Given the description of an element on the screen output the (x, y) to click on. 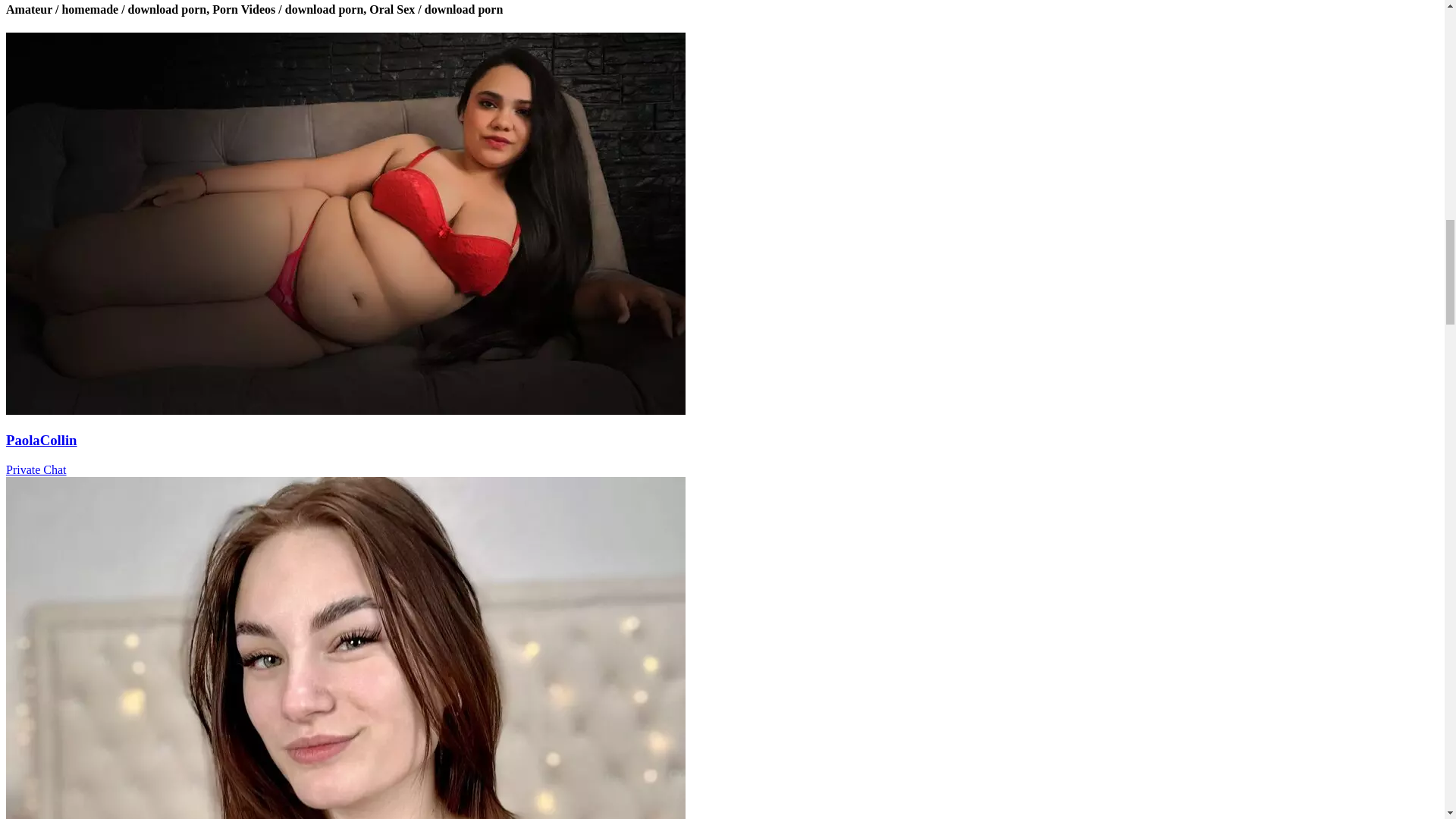
View more of PaolaCollin (345, 410)
